Given the description of an element on the screen output the (x, y) to click on. 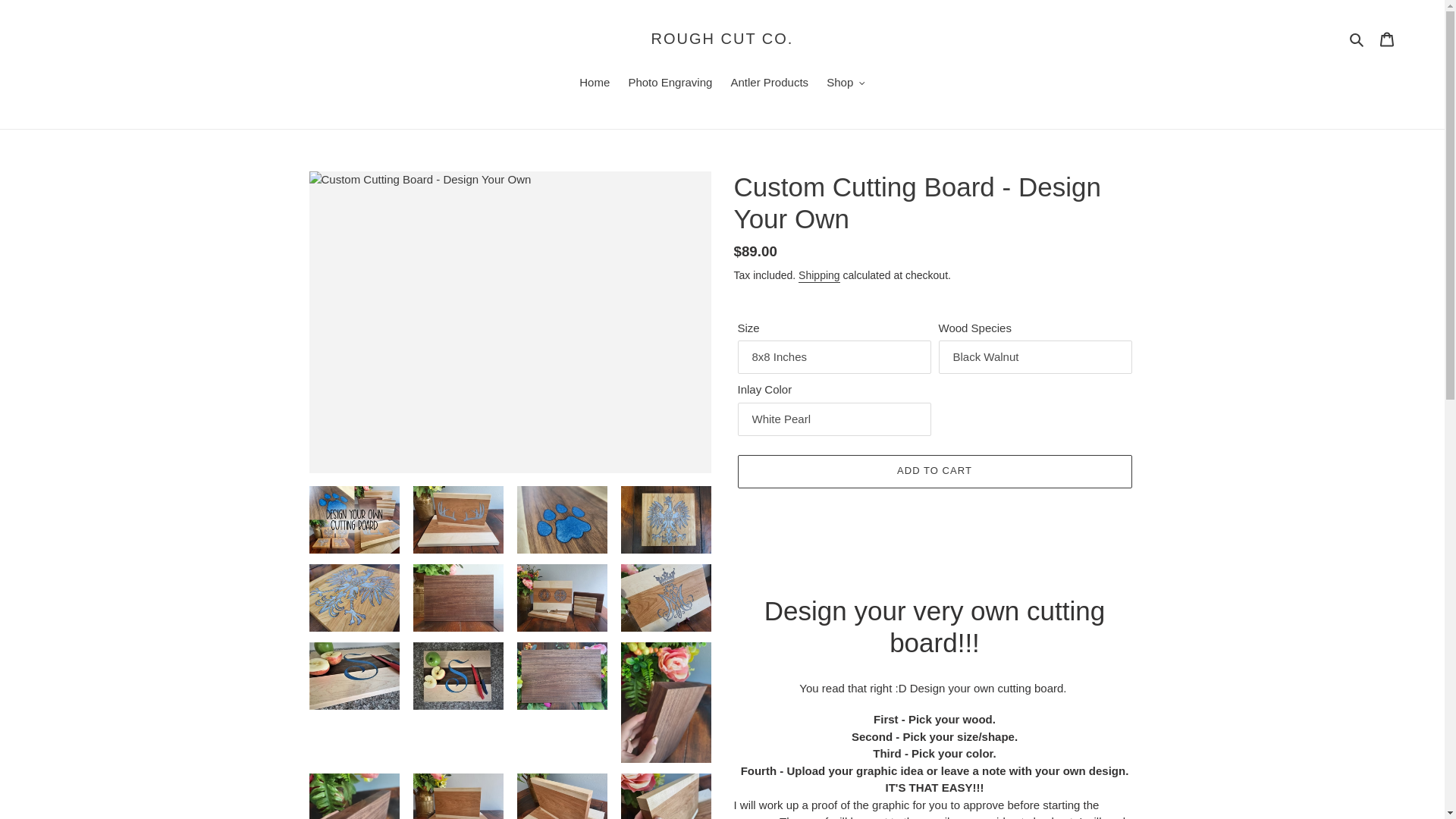
Search (1357, 38)
ROUGH CUT CO. (721, 38)
Cart (1387, 38)
